Given the description of an element on the screen output the (x, y) to click on. 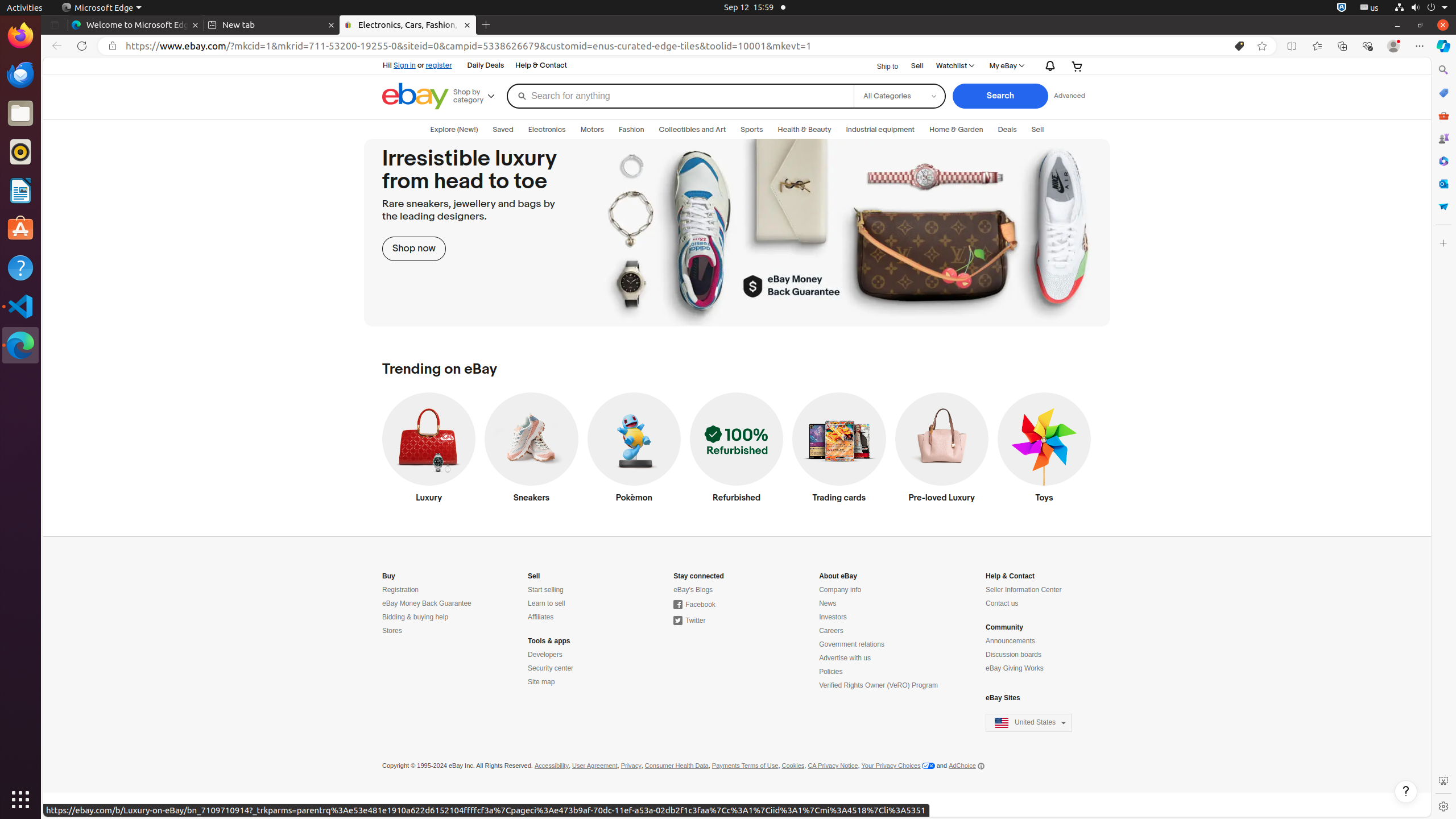
Notifications Element type: push-button (1047, 65)
Privacy Element type: link (630, 765)
Microsoft Edge Element type: menu (101, 7)
Watchlist Element type: link (954, 65)
Industrial equipment Element type: link (880, 129)
